Given the description of an element on the screen output the (x, y) to click on. 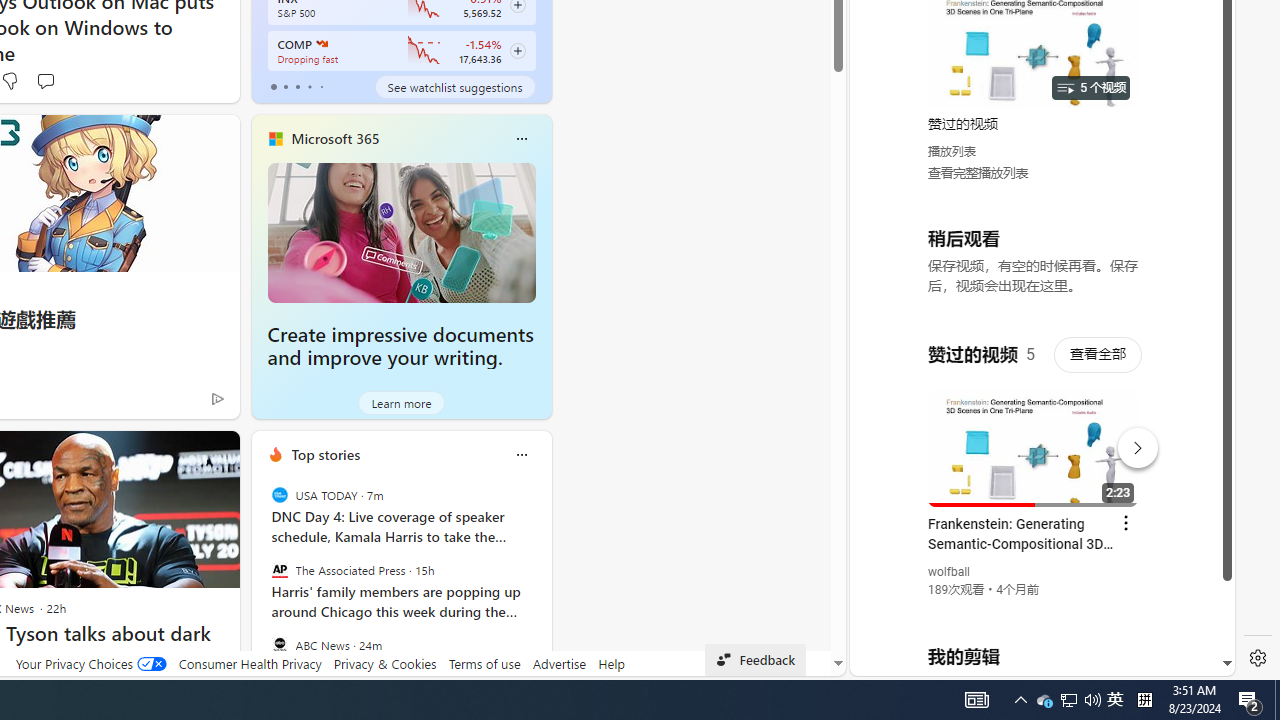
Learn more (401, 402)
tab-0 (273, 86)
Hide this story (178, 454)
next (541, 583)
